Given the description of an element on the screen output the (x, y) to click on. 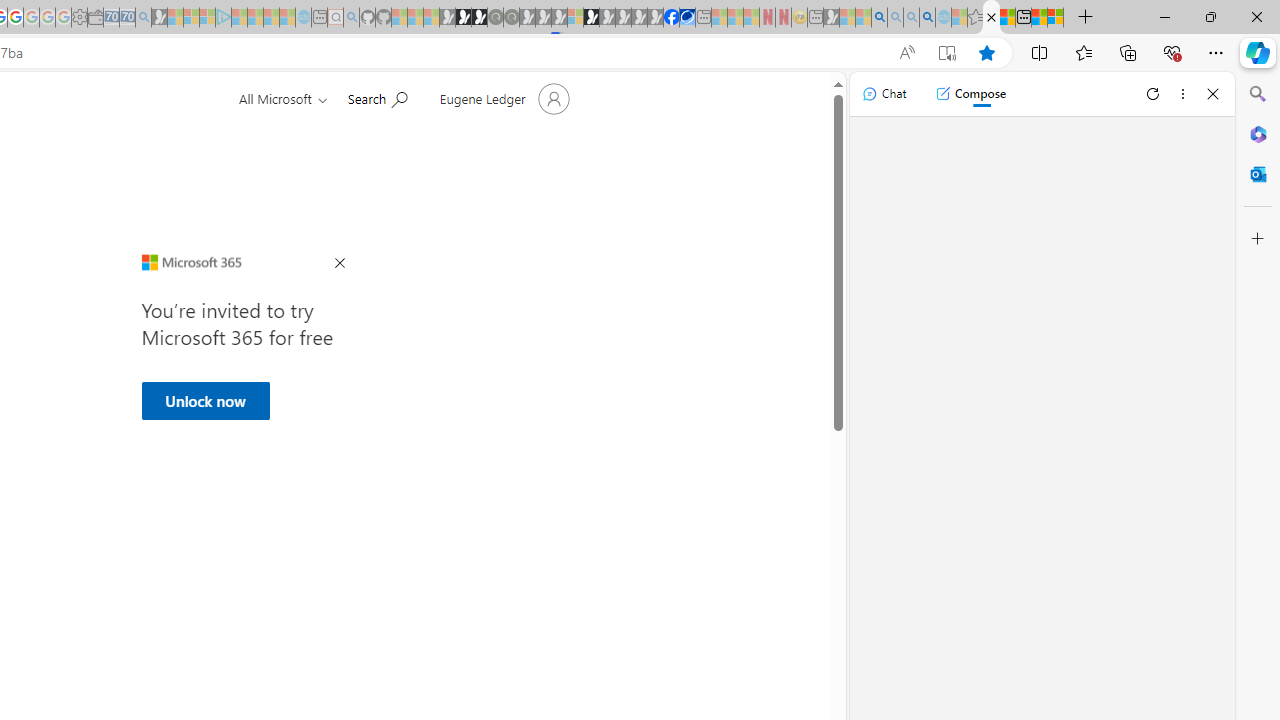
Aberdeen, Hong Kong SAR weather forecast | Microsoft Weather (1007, 17)
